Given the description of an element on the screen output the (x, y) to click on. 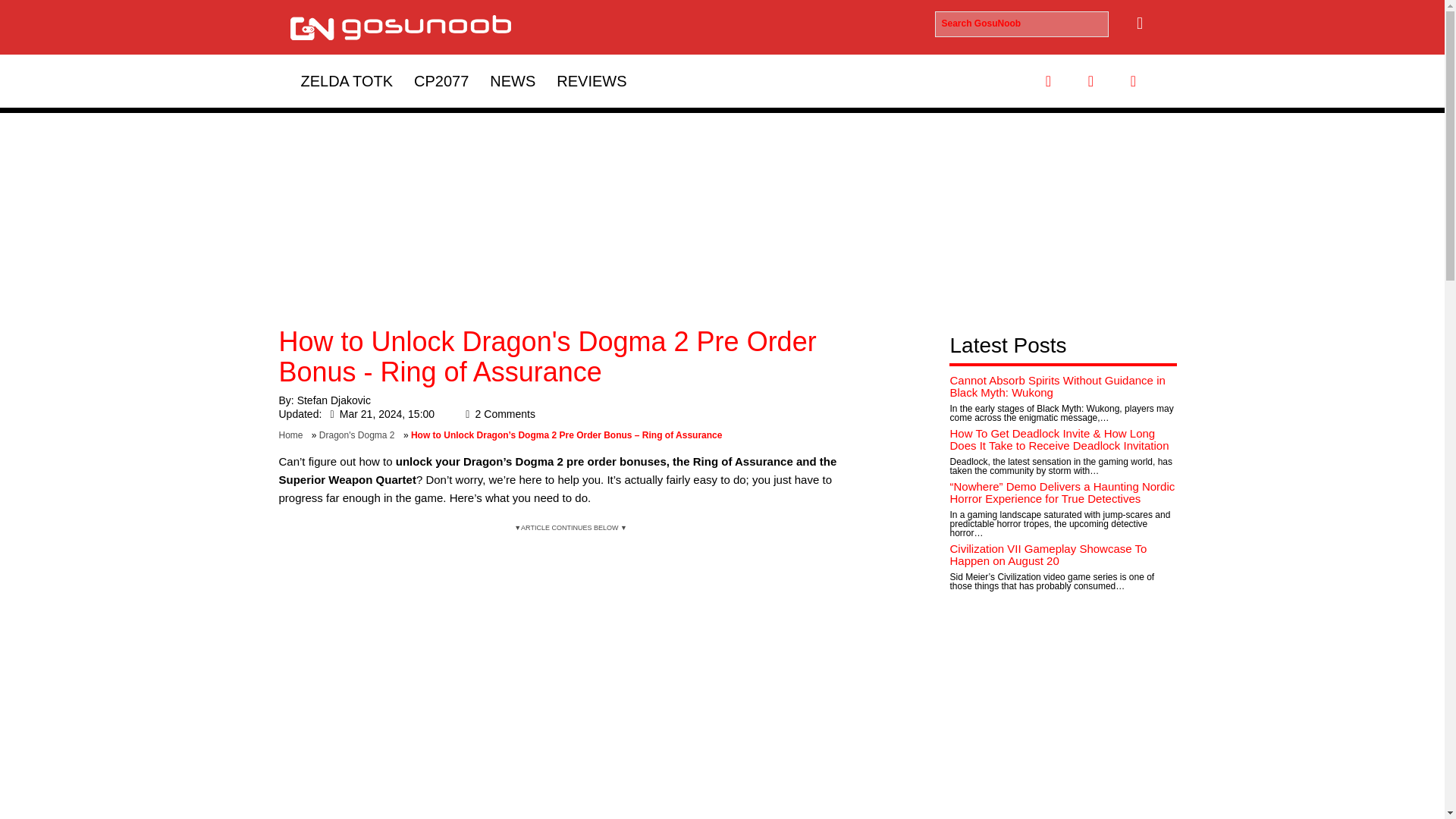
Cannot Absorb Spirits Without Guidance in Black Myth: Wukong (1056, 386)
REVIEWS (591, 80)
ZELDA TOTK (346, 80)
CP2077 (441, 80)
Civilization VII Gameplay Showcase To Happen on August 20 (1048, 555)
Home (293, 434)
NEWS (512, 80)
2 Comments (497, 413)
Cannot Absorb Spirits Without Guidance in Black Myth: Wukong (1056, 386)
Stefan Djakovic (334, 399)
